Given the description of an element on the screen output the (x, y) to click on. 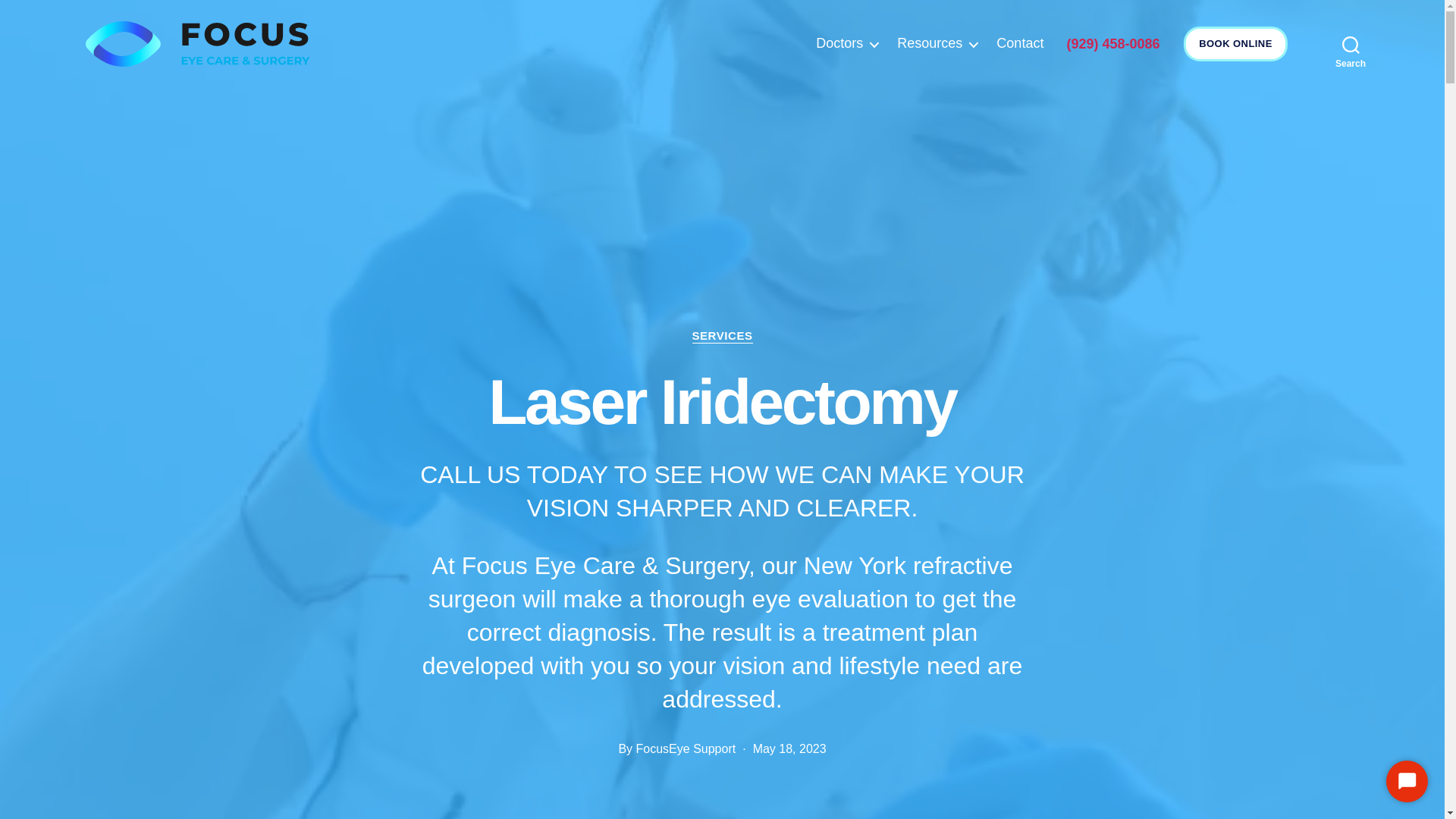
Search (1350, 43)
FocusEye Support (686, 748)
Doctors (846, 44)
BOOK ONLINE (1235, 43)
Contact (1019, 44)
May 18, 2023 (789, 748)
Resources (936, 44)
SERVICES (721, 336)
